Given the description of an element on the screen output the (x, y) to click on. 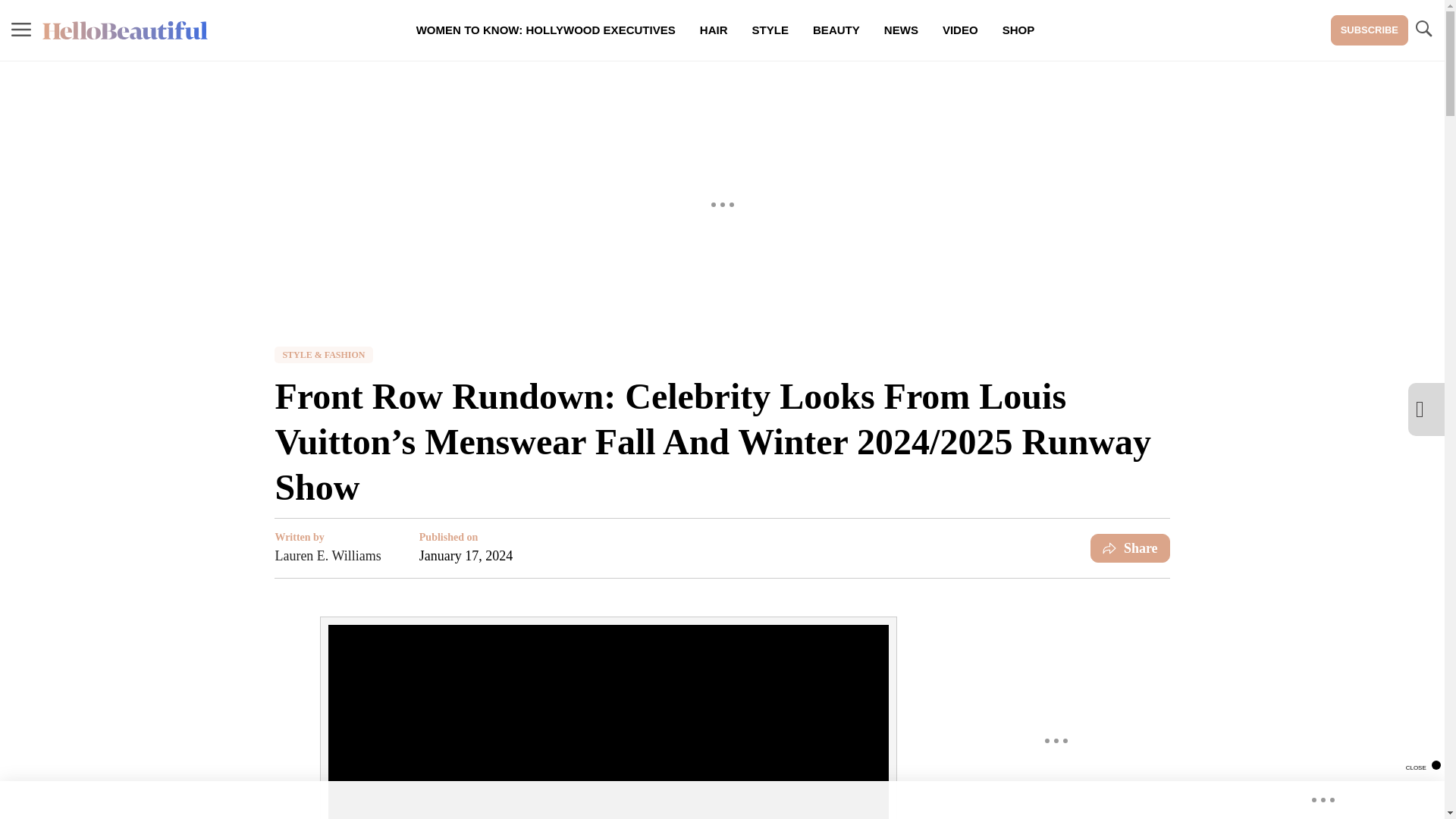
BEAUTY (836, 30)
SUBSCRIBE (1368, 30)
HAIR (713, 30)
TOGGLE SEARCH (1422, 28)
TOGGLE SEARCH (1422, 30)
STYLE (769, 30)
MENU (20, 30)
Lauren E. Williams (327, 555)
NEWS (901, 30)
MENU (20, 29)
